Given the description of an element on the screen output the (x, y) to click on. 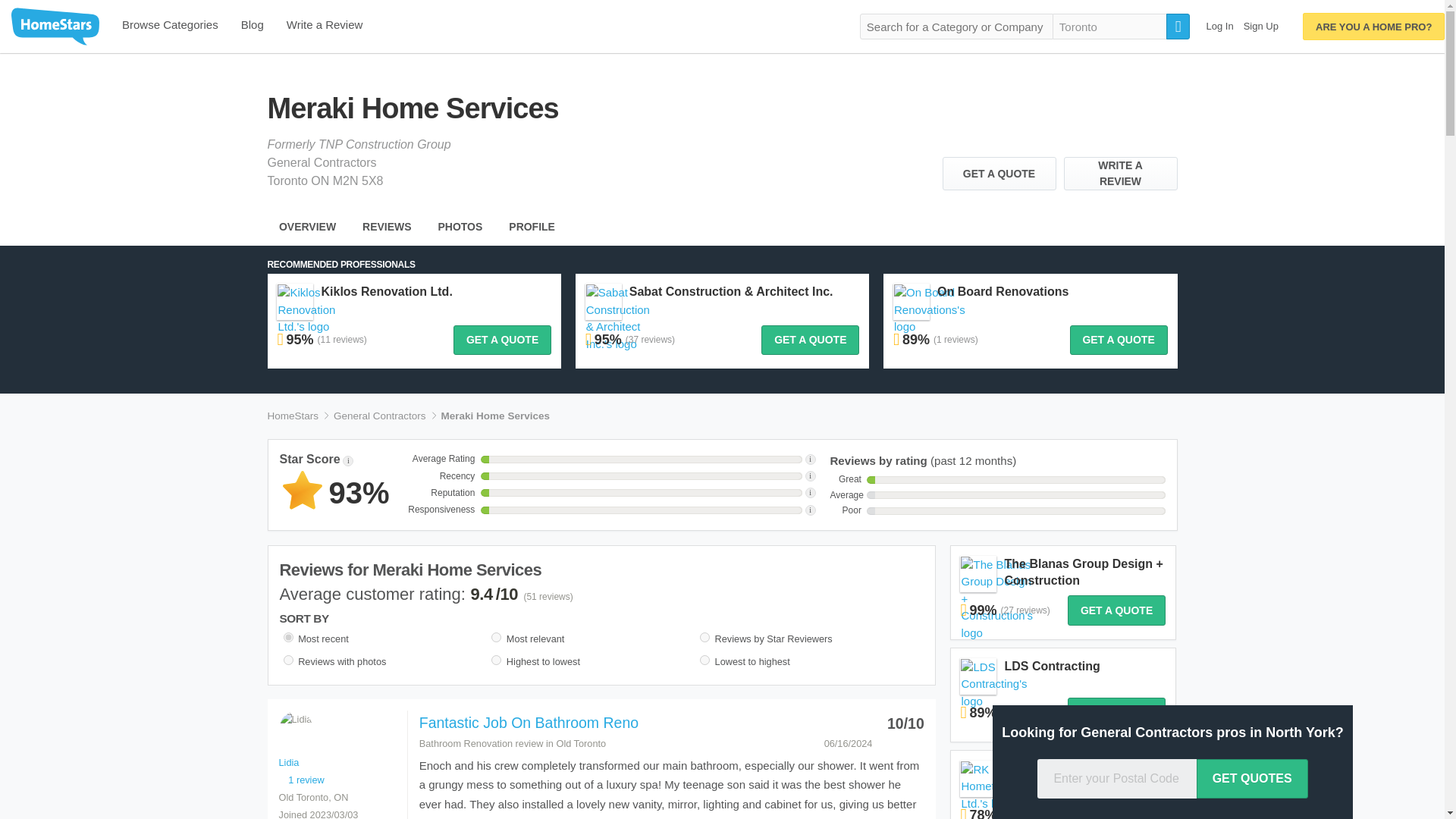
General Contractors (379, 415)
OVERVIEW (306, 226)
Browse Categories (170, 26)
GET A QUOTE (998, 173)
recent (288, 637)
GET A QUOTE (501, 340)
Log In (1220, 25)
relevant (496, 637)
Toronto (1109, 26)
LDS Contracting's logo (993, 684)
